Given the description of an element on the screen output the (x, y) to click on. 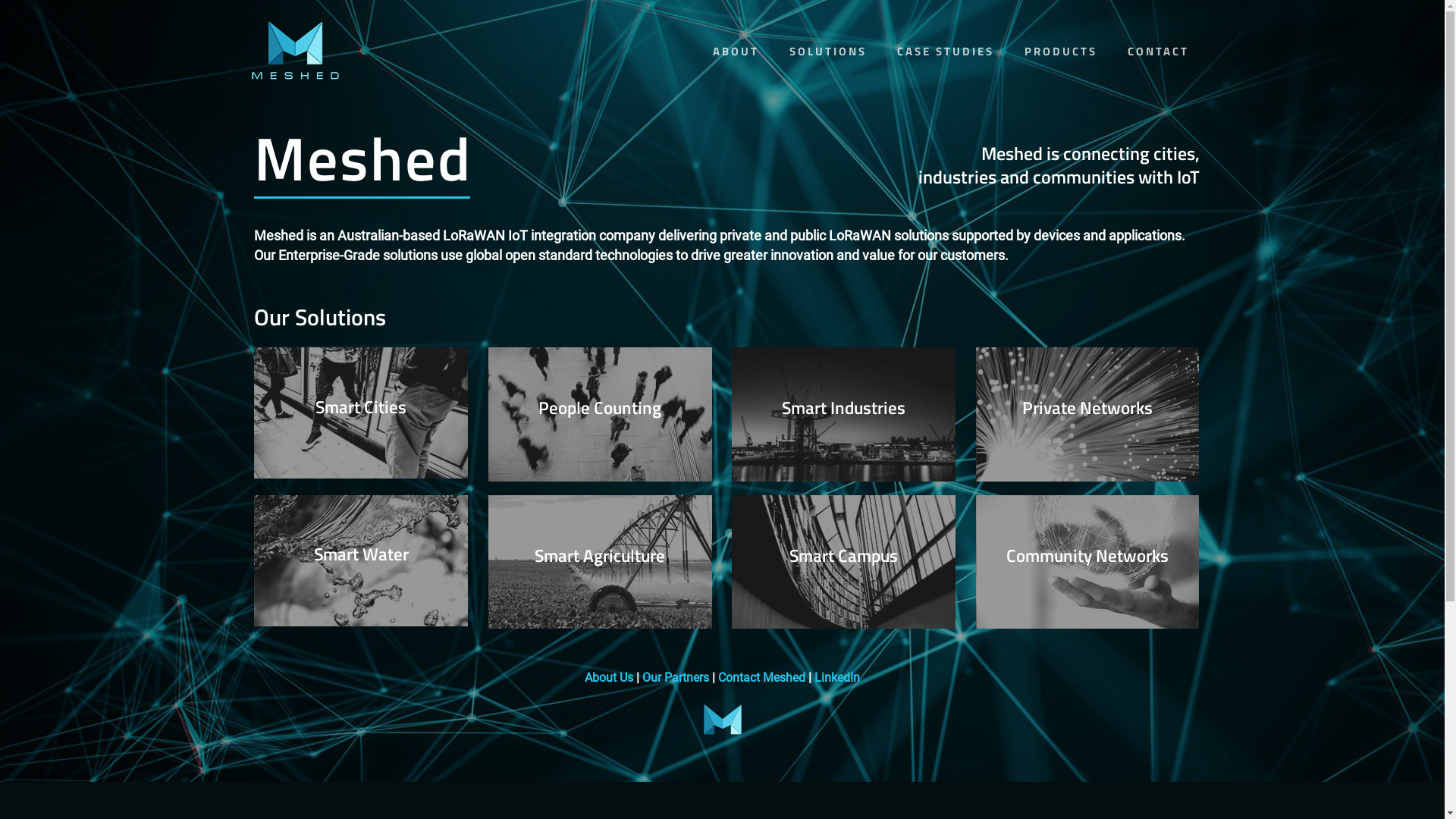
LinkedIn Element type: text (836, 677)
CASE STUDIES Element type: text (944, 61)
Contact Meshed Element type: text (761, 677)
Our Partners Element type: text (675, 677)
ABOUT Element type: text (735, 61)
About Us Element type: text (608, 677)
CONTACT Element type: text (1157, 61)
PRODUCTS Element type: text (1059, 61)
SOLUTIONS Element type: text (827, 61)
